Given the description of an element on the screen output the (x, y) to click on. 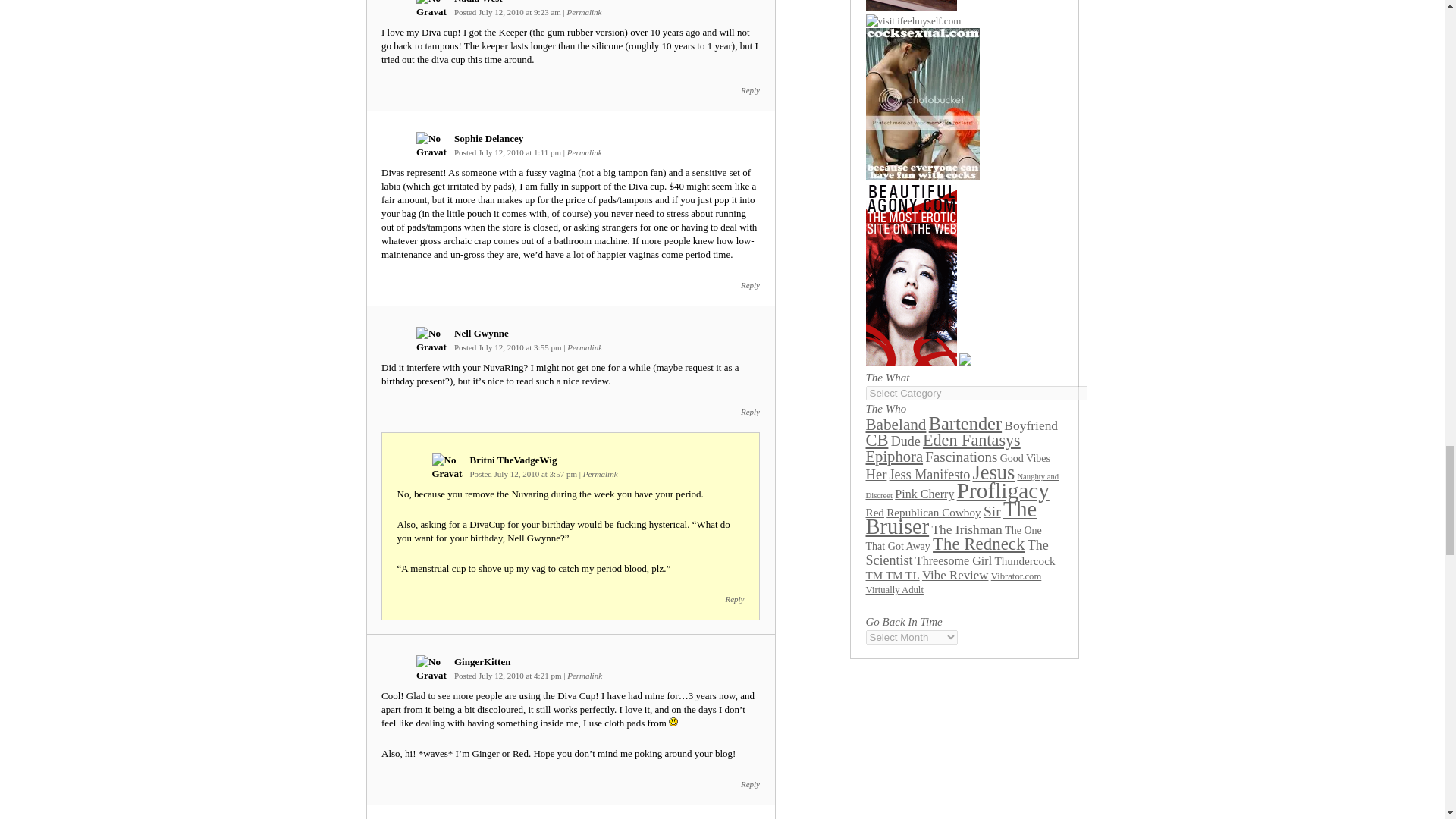
Permalink (584, 152)
Permalink (584, 11)
